Given the description of an element on the screen output the (x, y) to click on. 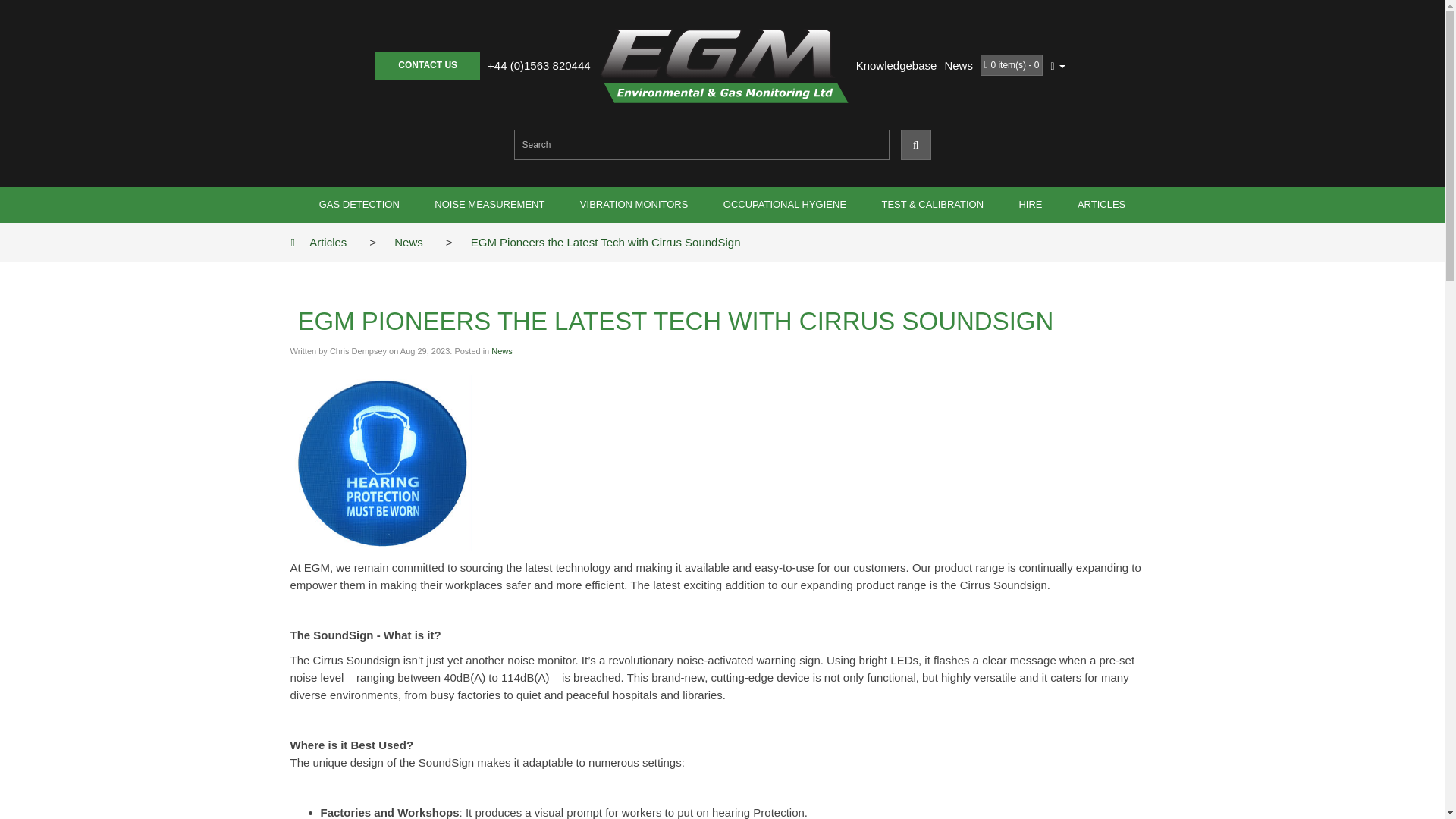
News (502, 350)
EGM Pioneers the Latest Tech with Cirrus SoundSign (605, 241)
Knowledgebase (896, 65)
News (502, 350)
CONTACT US (427, 65)
GAS DETECTION (359, 204)
VIBRATION MONITORS (634, 204)
News (408, 241)
My Account (1056, 65)
NOISE MEASUREMENT (489, 204)
